Given the description of an element on the screen output the (x, y) to click on. 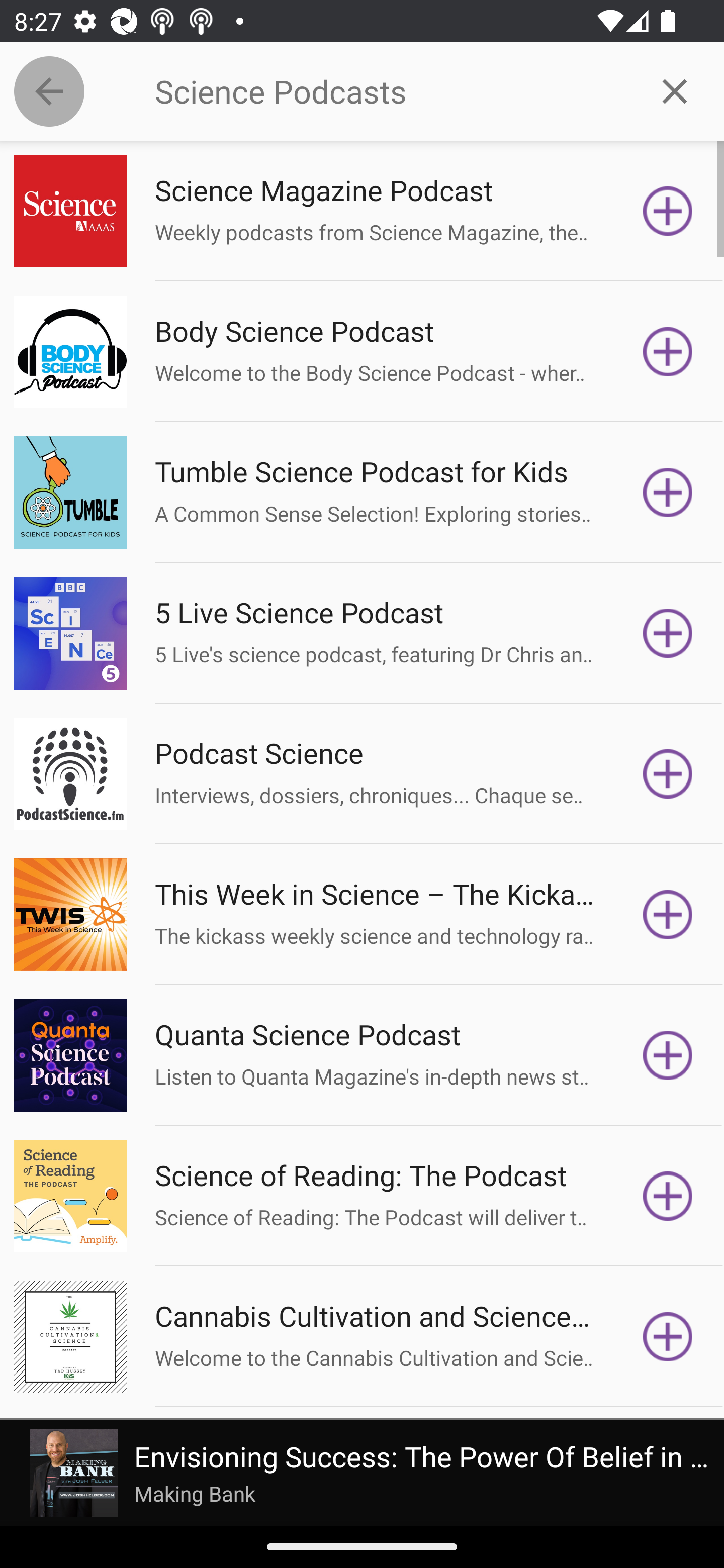
Collapse (49, 91)
Clear query (674, 90)
Science Podcasts (389, 91)
Subscribe (667, 211)
Subscribe (667, 350)
Subscribe (667, 491)
Subscribe (667, 633)
Subscribe (667, 773)
Subscribe (667, 913)
Subscribe (667, 1054)
Subscribe (667, 1195)
Subscribe (667, 1336)
